Given the description of an element on the screen output the (x, y) to click on. 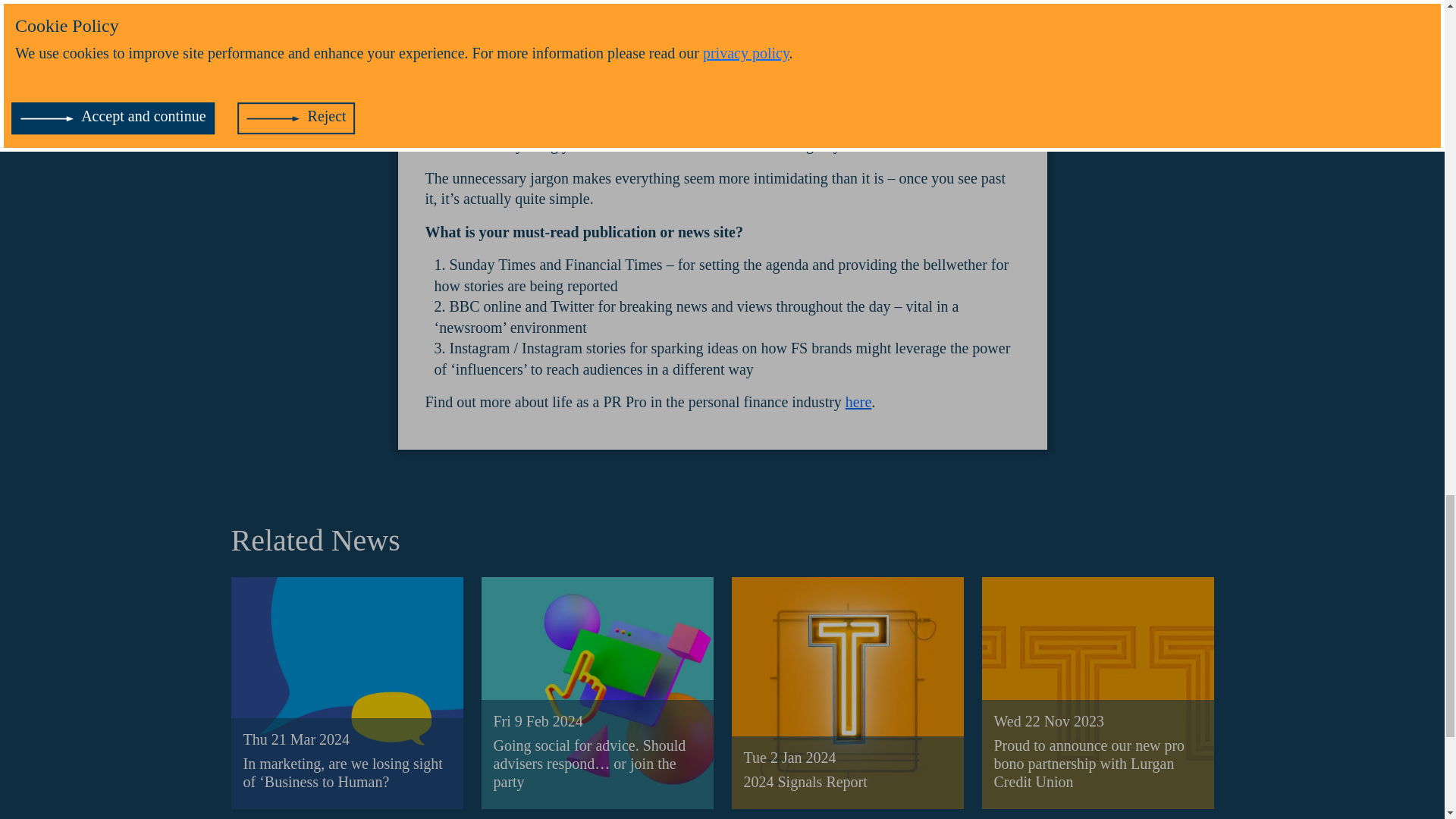
here (857, 401)
